Given the description of an element on the screen output the (x, y) to click on. 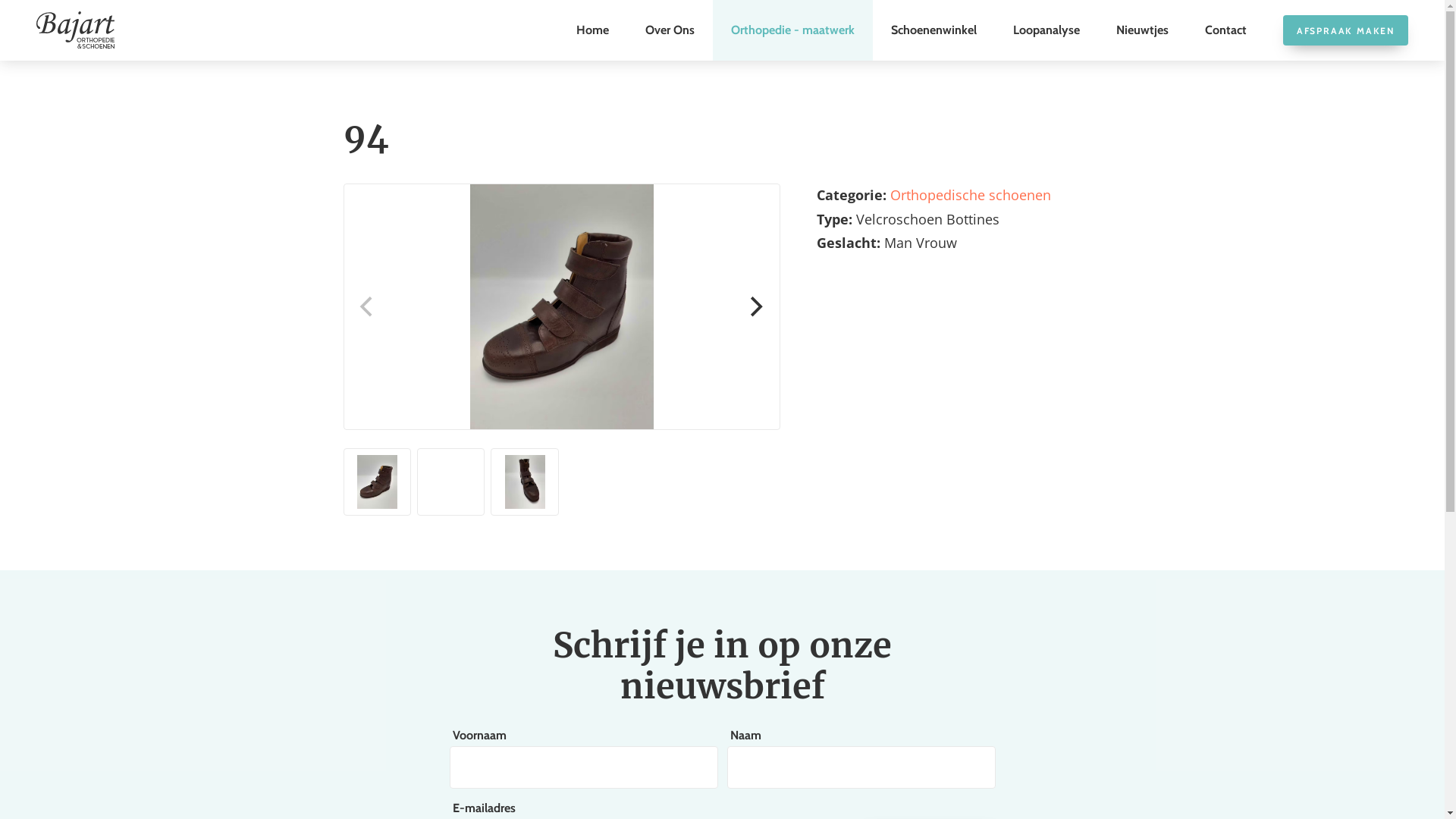
Orthopedie - maatwerk Element type: text (792, 30)
Schoenenwinkel Element type: text (933, 30)
Loopanalyse Element type: text (1046, 30)
AFSPRAAK MAKEN Element type: text (1345, 30)
Nieuwtjes Element type: text (1142, 30)
Contact Element type: text (1225, 30)
Over Ons Element type: text (669, 30)
Home Element type: text (592, 30)
Orthopedische schoenen Element type: text (970, 194)
